Given the description of an element on the screen output the (x, y) to click on. 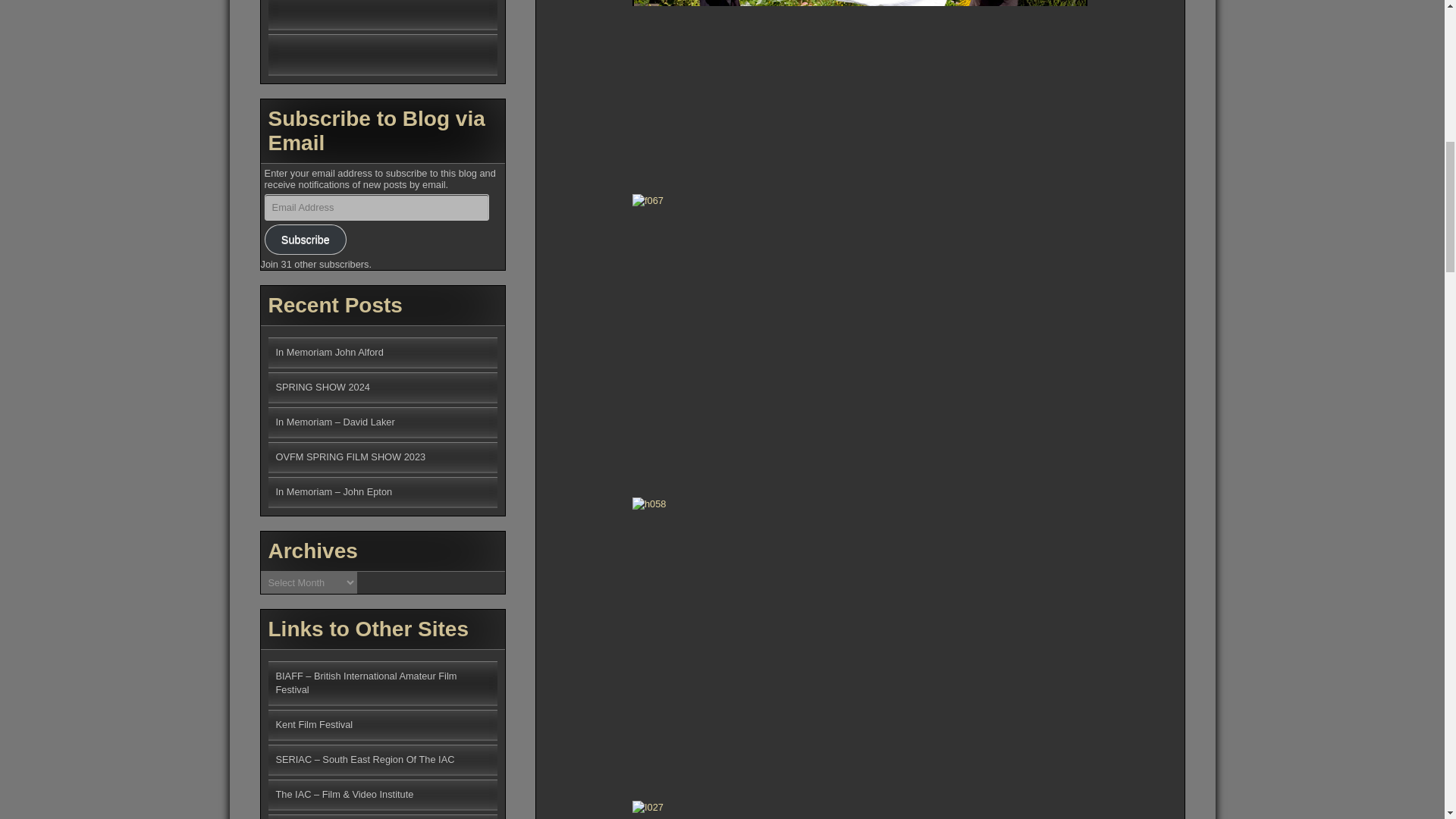
Official website for SERIAC (365, 758)
Homepage for the Kent Film Festival (314, 724)
Homepage of the IAC. (344, 794)
Information about the annual BIAFF competition (366, 682)
